Given the description of an element on the screen output the (x, y) to click on. 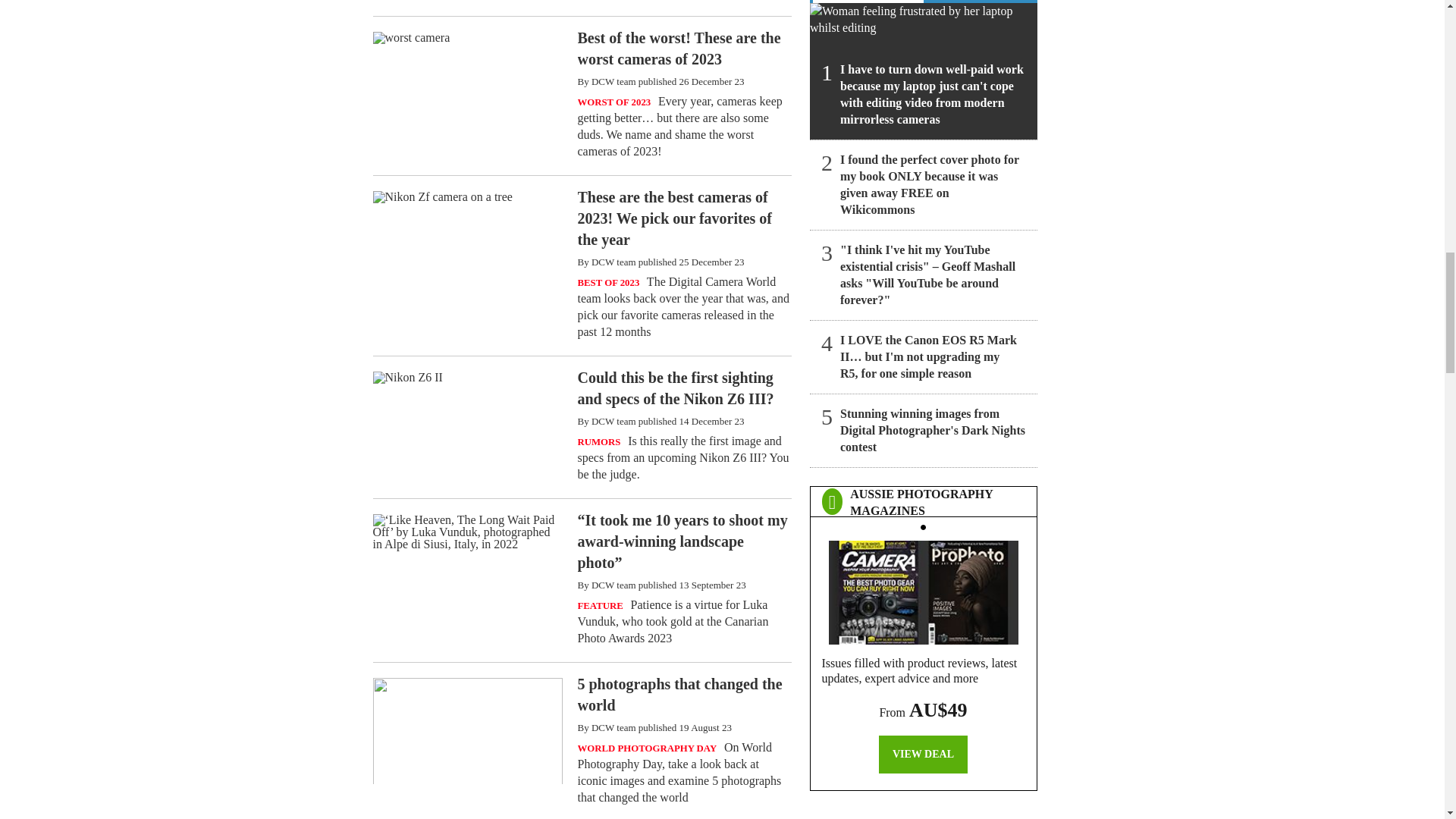
Aussie photography magazines (922, 588)
